Given the description of an element on the screen output the (x, y) to click on. 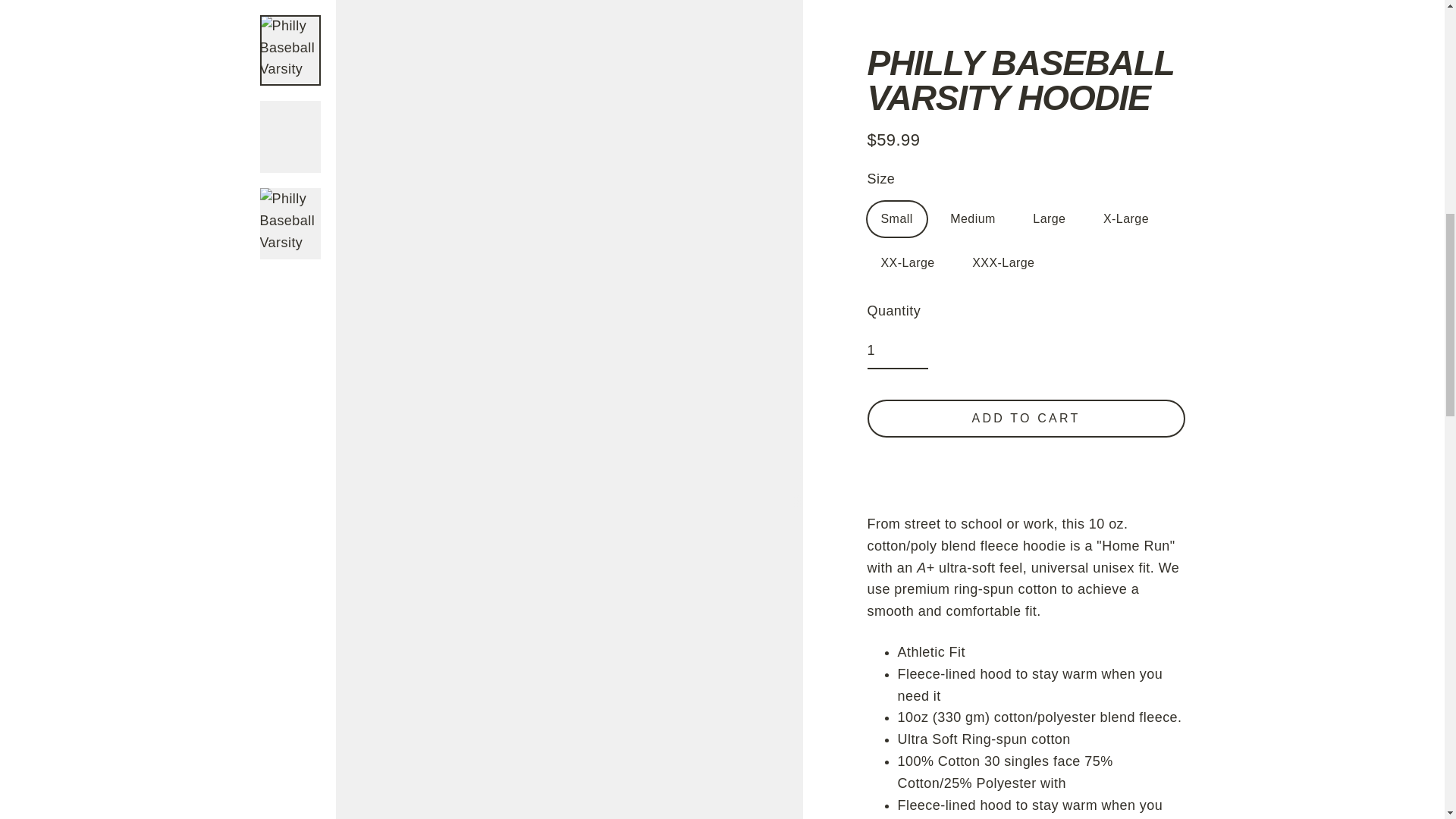
MENU (162, 46)
Share on Facebook (949, 414)
Pin on Pinterest (1104, 414)
Tweet on Twitter (1028, 414)
